Given the description of an element on the screen output the (x, y) to click on. 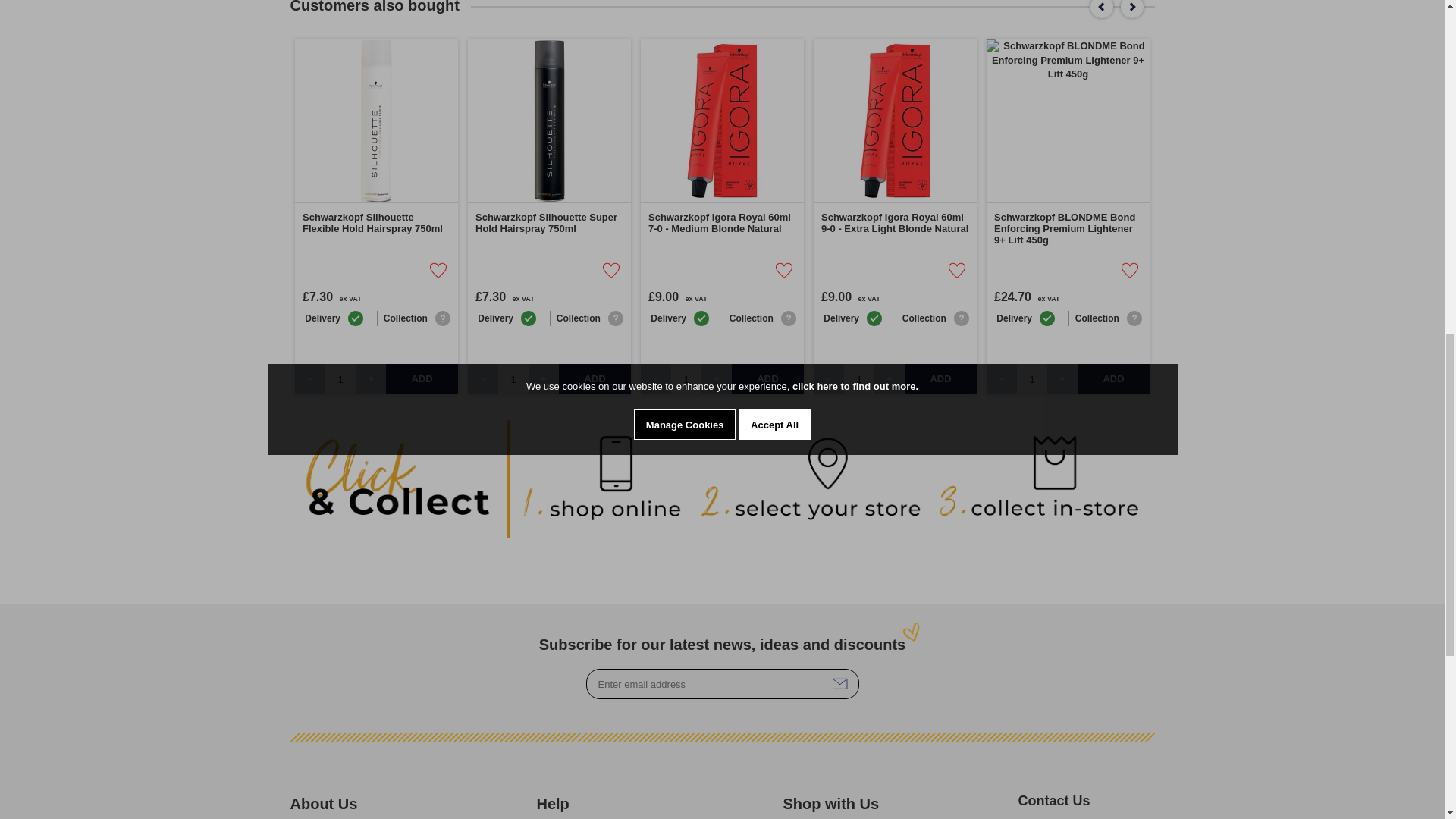
1 (859, 378)
1 (339, 378)
1 (1031, 378)
1 (686, 378)
1 (512, 378)
